Given the description of an element on the screen output the (x, y) to click on. 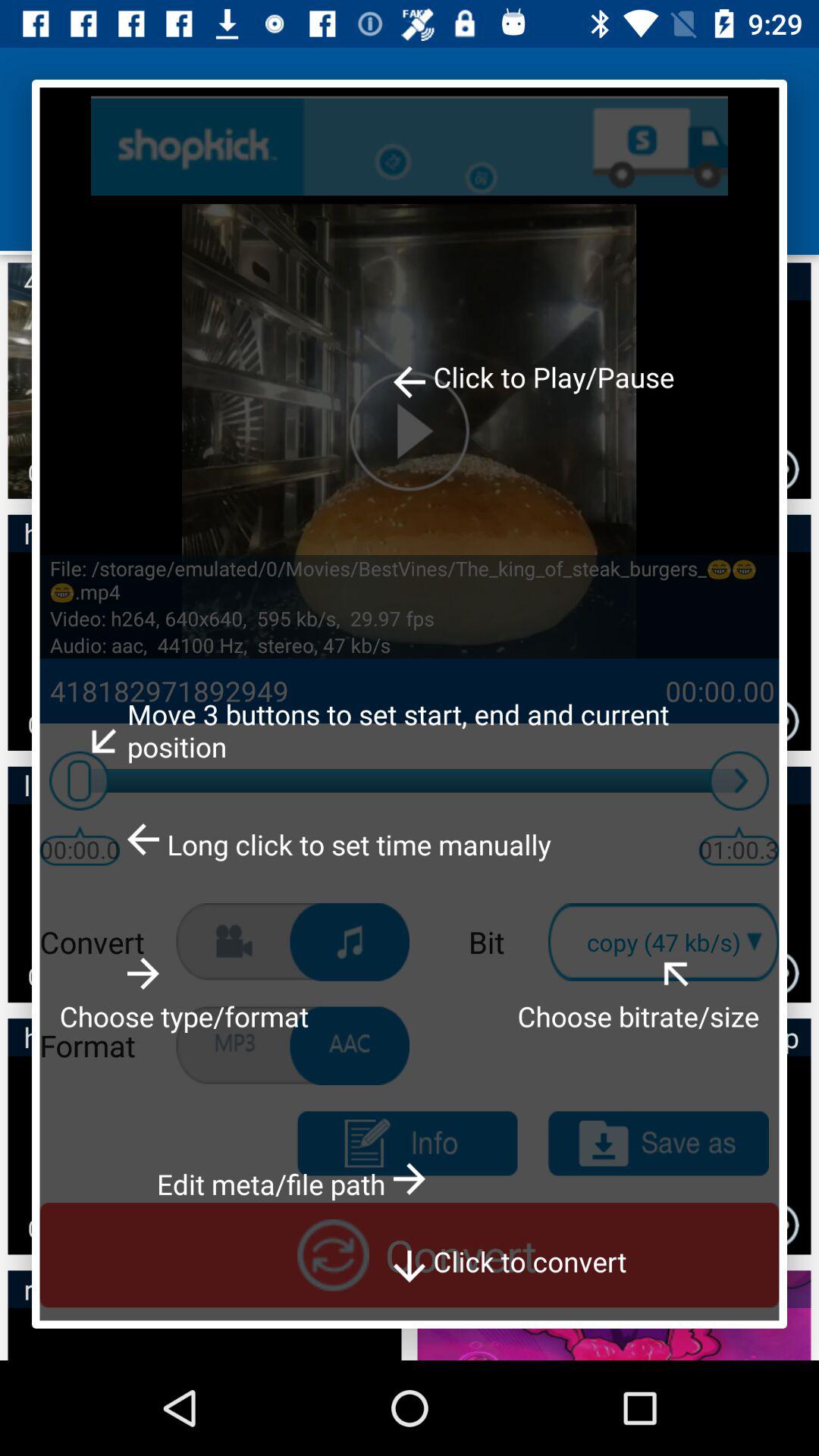
shopkick box (409, 145)
